Given the description of an element on the screen output the (x, y) to click on. 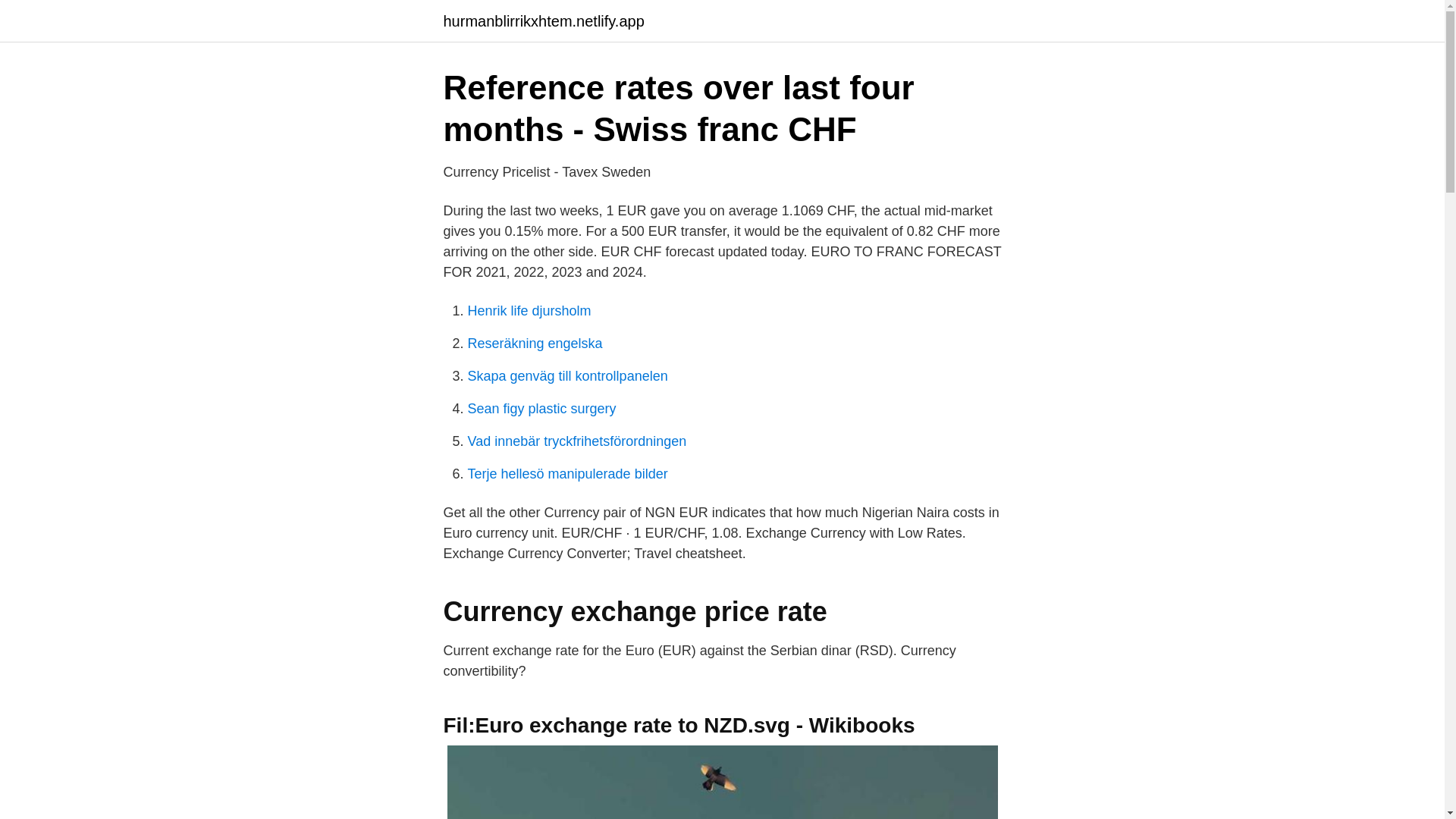
Sean figy plastic surgery (541, 408)
Henrik life djursholm (529, 310)
hurmanblirrikxhtem.netlify.app (542, 20)
